Given the description of an element on the screen output the (x, y) to click on. 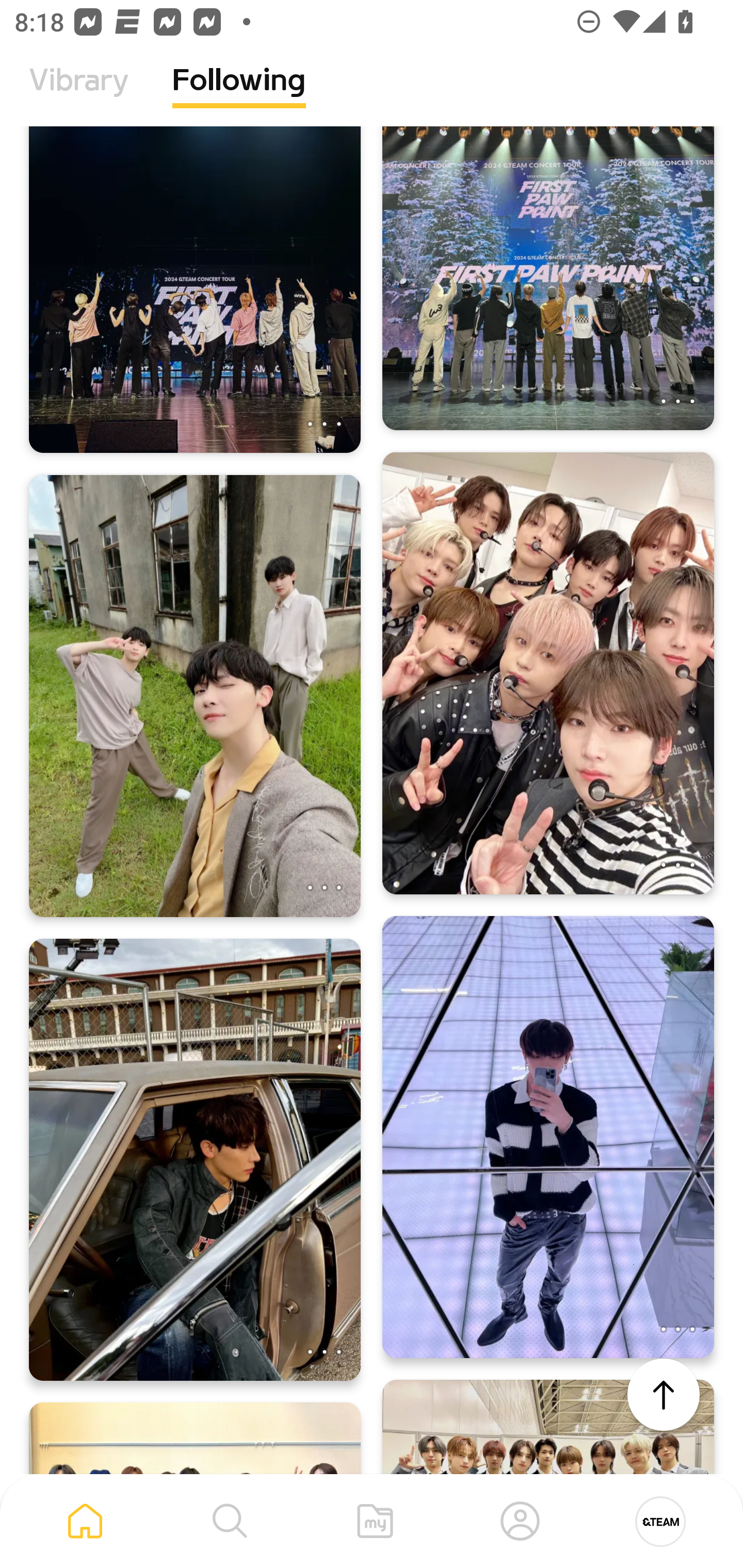
Vibrary (78, 95)
Following (239, 95)
